Given the description of an element on the screen output the (x, y) to click on. 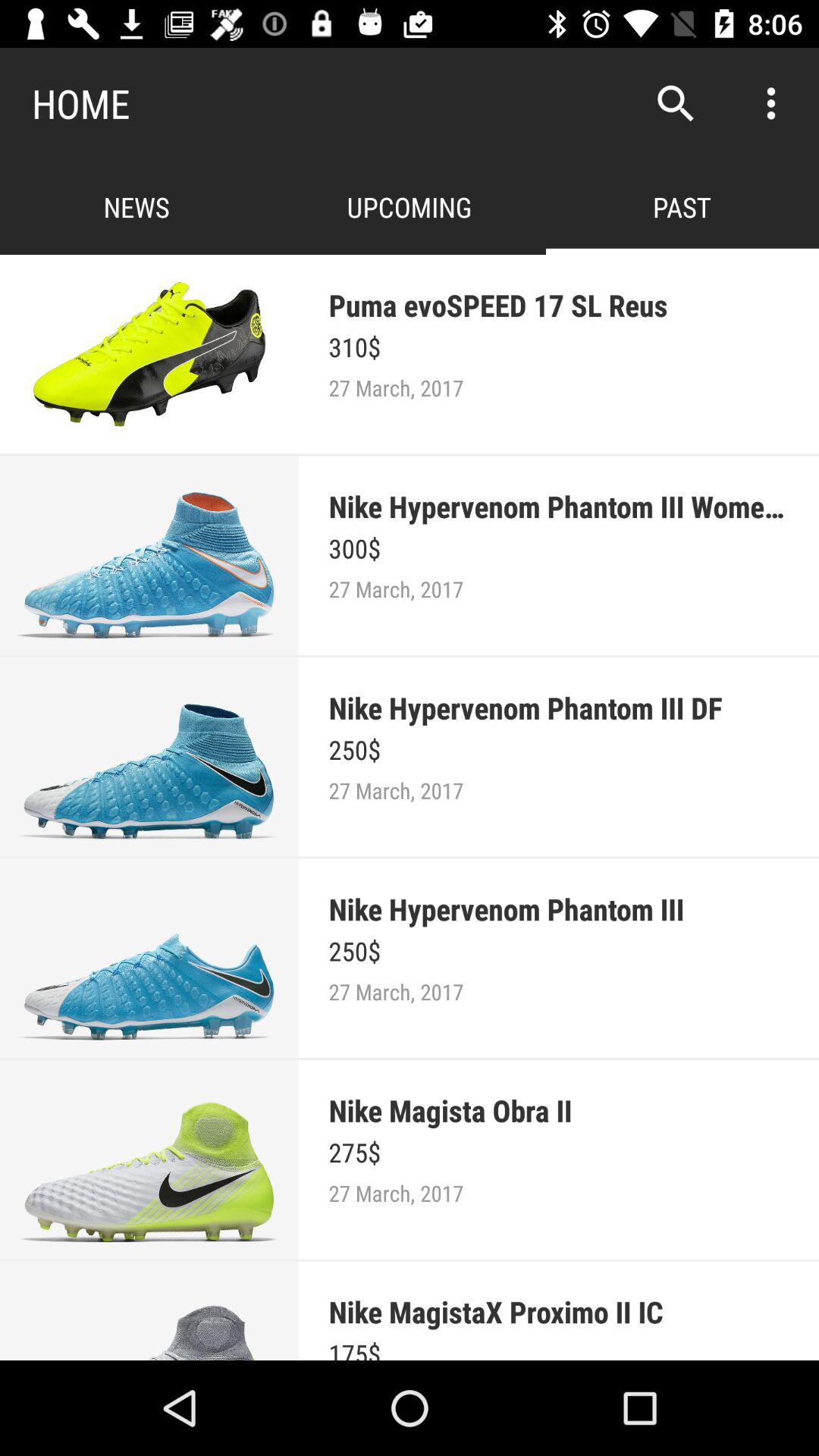
turn on app to the right of home (675, 103)
